Given the description of an element on the screen output the (x, y) to click on. 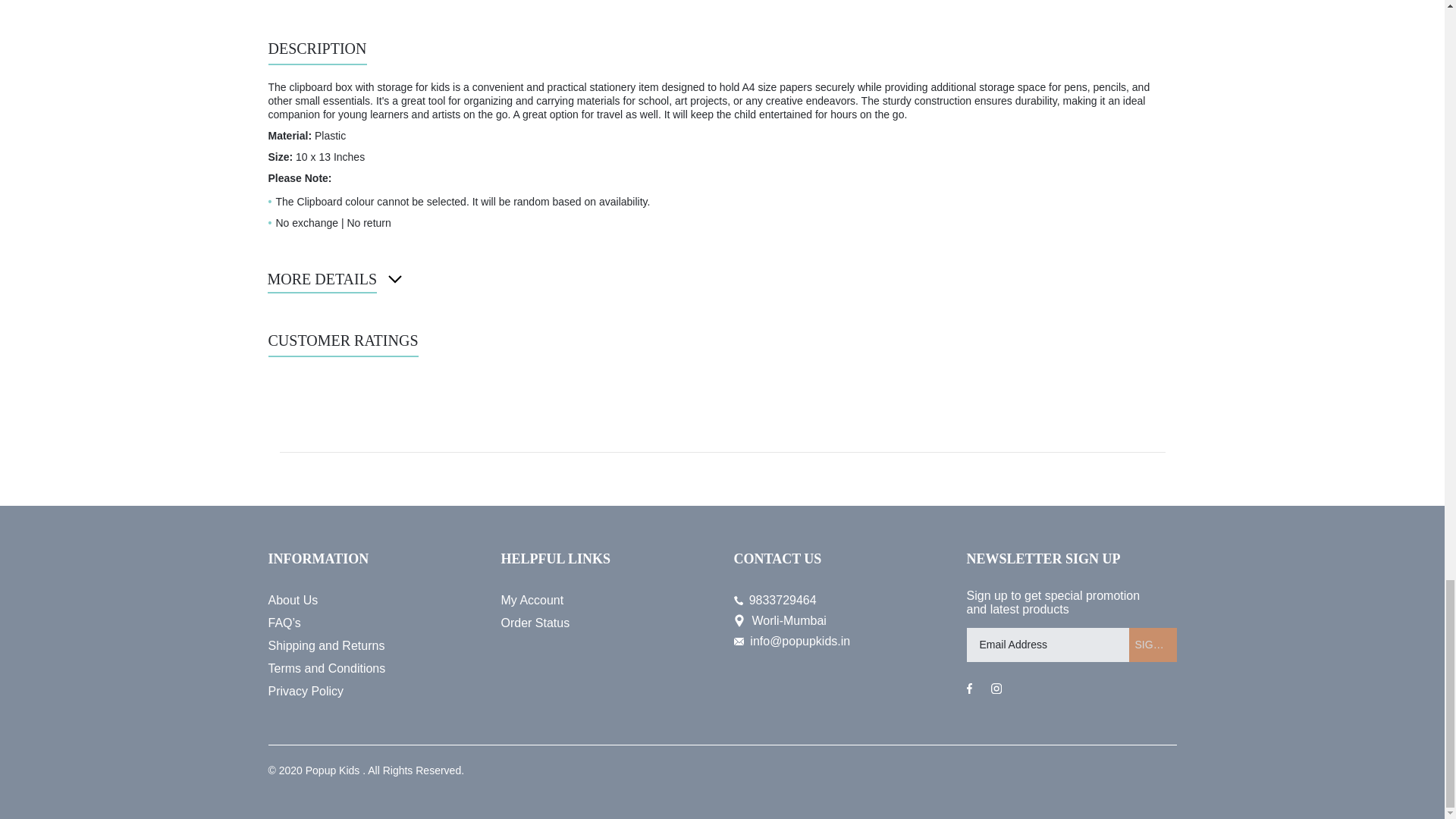
My Account (605, 599)
Terms and Conditions (373, 668)
Privacy Policy (373, 691)
About Us (373, 599)
Sign up (1152, 644)
 Shipping and Returns (373, 645)
